Given the description of an element on the screen output the (x, y) to click on. 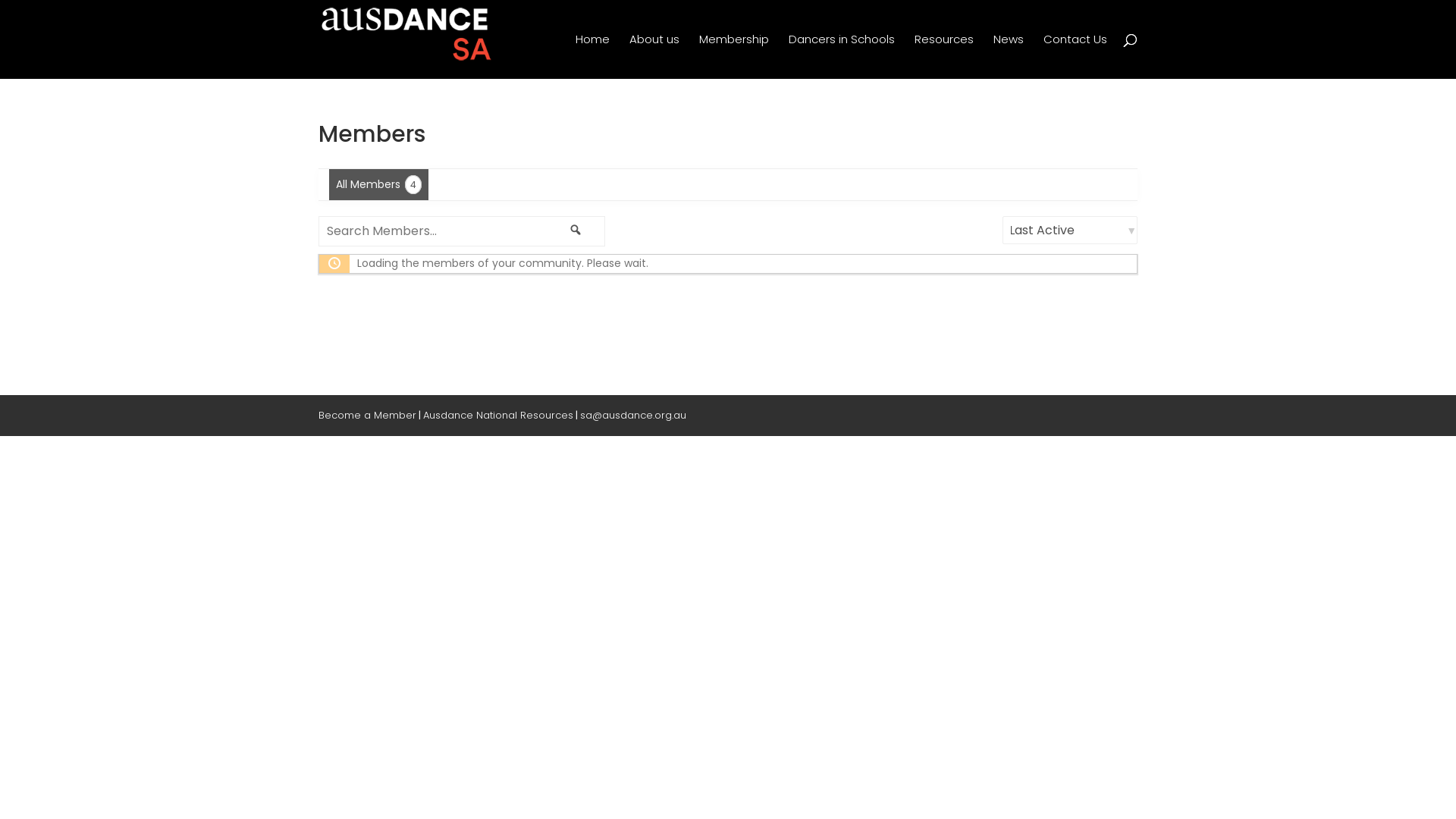
Dancers in Schools Element type: text (841, 56)
Contact Us Element type: text (1075, 56)
Search Element type: text (574, 226)
News Element type: text (1008, 56)
Home Element type: text (592, 56)
About us Element type: text (654, 56)
All Members 4 Element type: text (378, 184)
Become a Member Element type: text (367, 414)
Resources Element type: text (943, 56)
Membership Element type: text (733, 56)
Ausdance National Resources Element type: text (498, 414)
sa@ausdance.org.au Element type: text (633, 414)
